Given the description of an element on the screen output the (x, y) to click on. 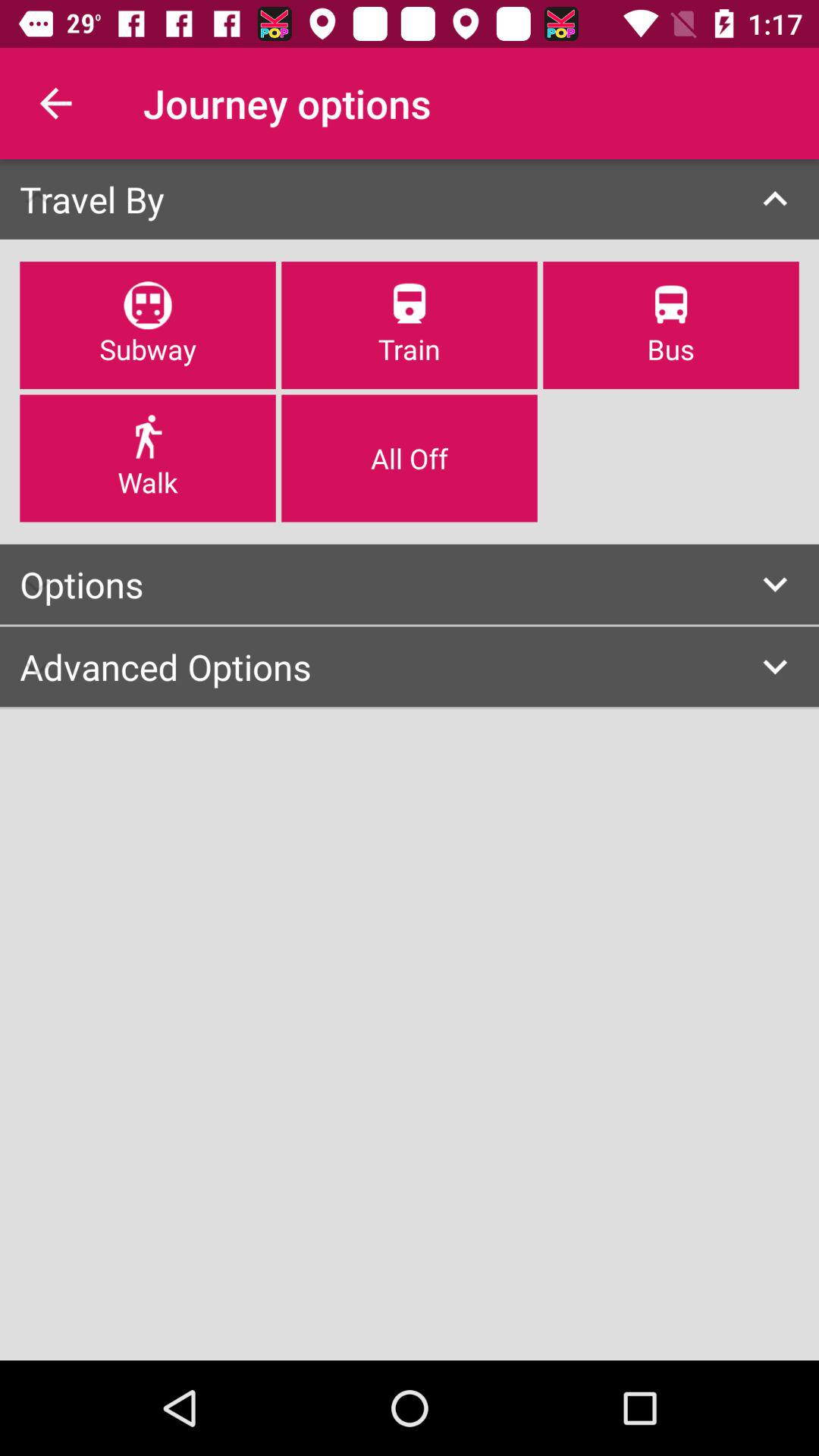
click the item next to journey options (55, 103)
